Given the description of an element on the screen output the (x, y) to click on. 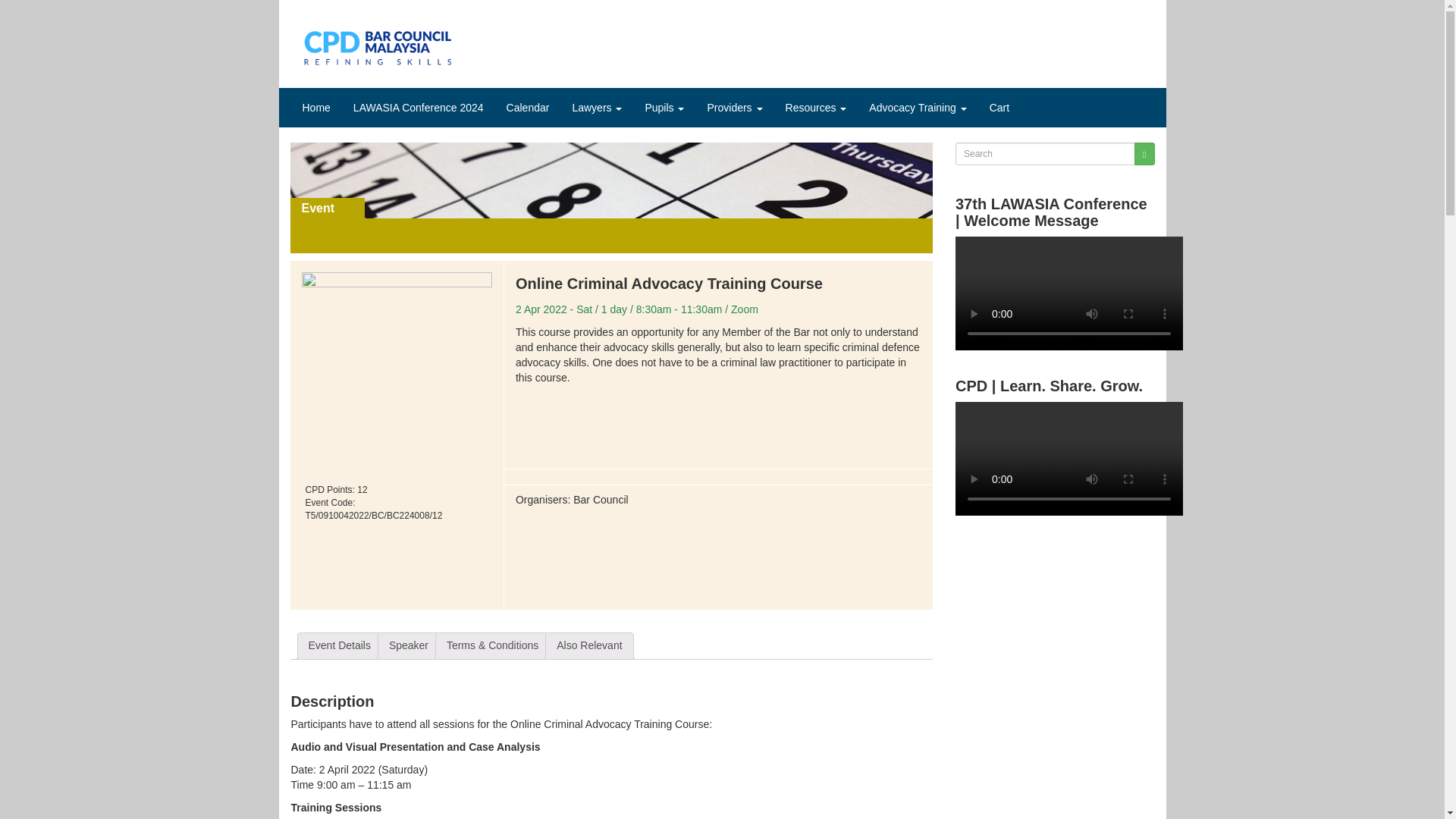
Also Relevant (588, 646)
Pupils (664, 107)
Advocacy Training (916, 107)
Lawyers (596, 107)
Providers (734, 107)
Cart (999, 107)
Pupils (664, 107)
Advocacy Training (916, 107)
LAWASIA Conference 2024 (418, 107)
Providers (734, 107)
